Given the description of an element on the screen output the (x, y) to click on. 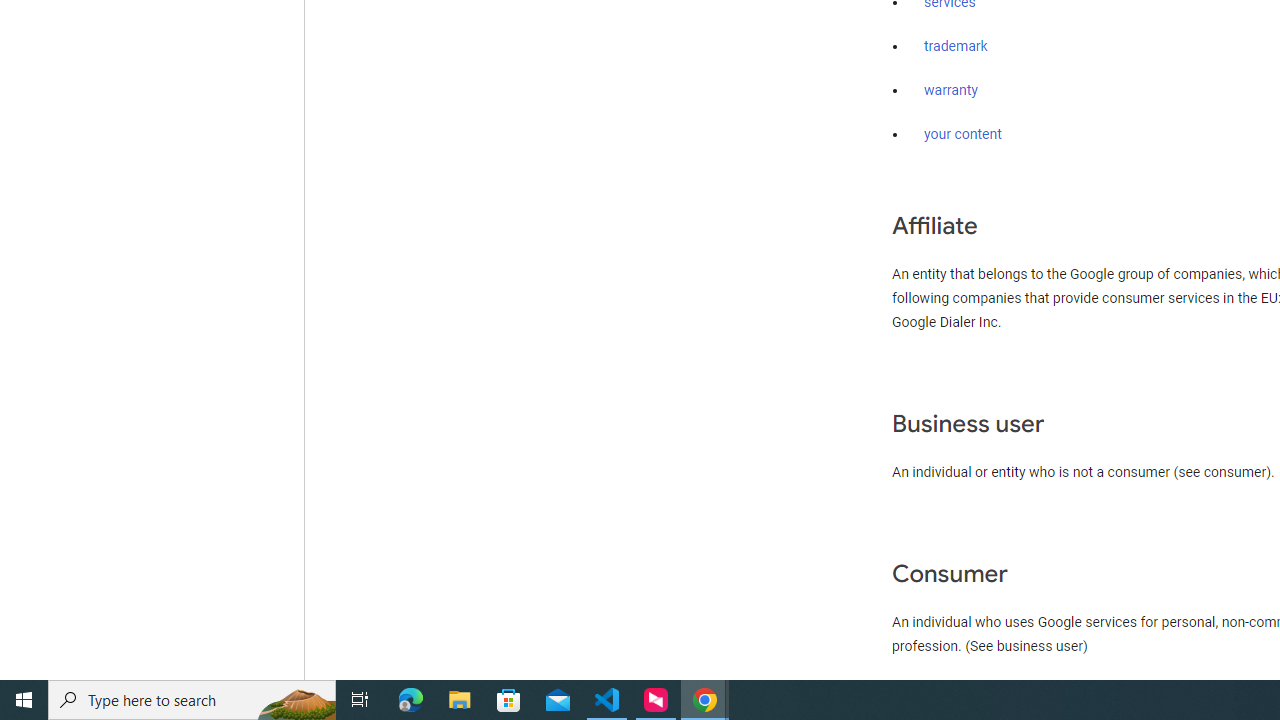
warranty (950, 91)
your content (963, 134)
trademark (956, 47)
